Given the description of an element on the screen output the (x, y) to click on. 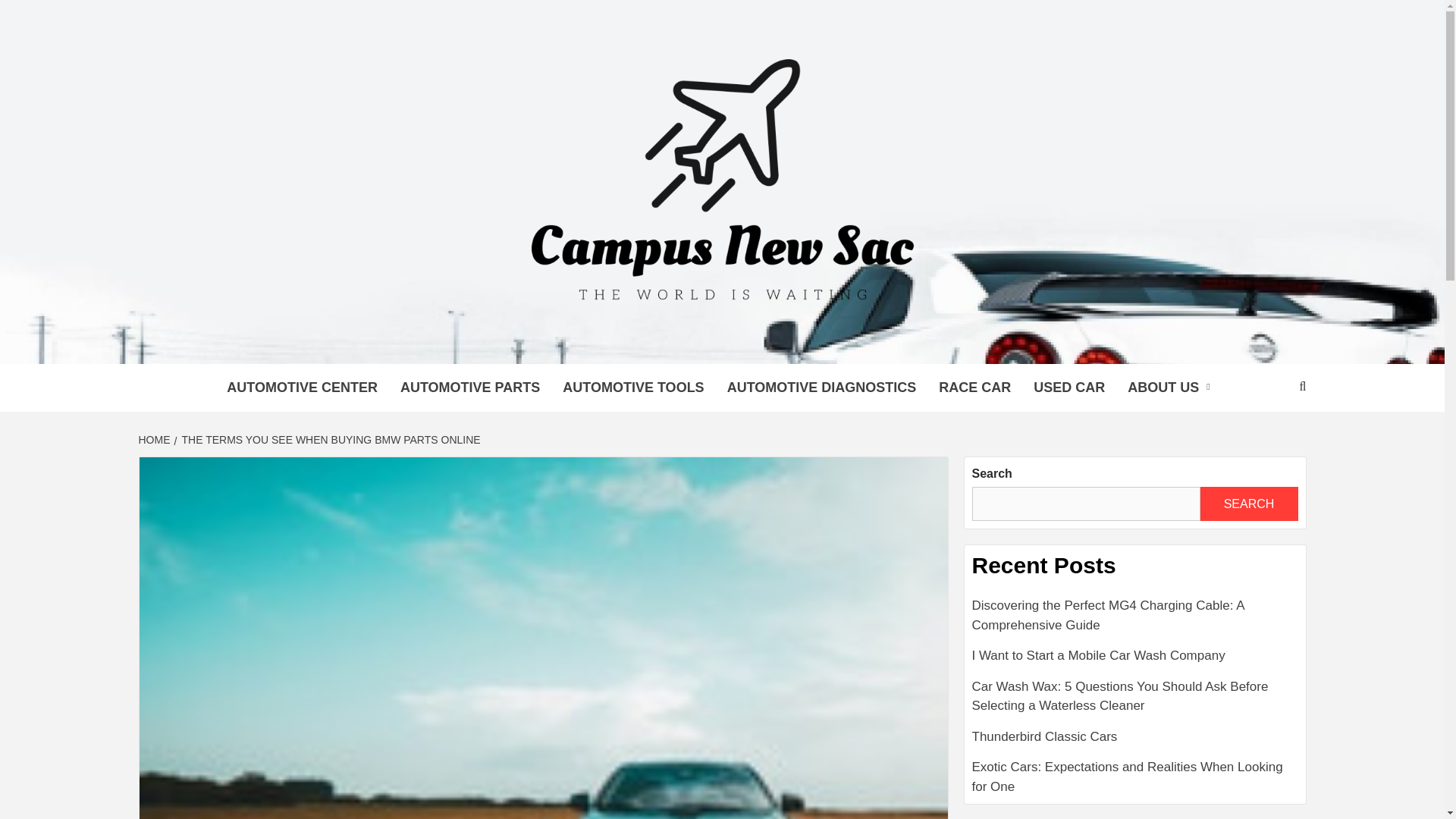
CAMPUS NEWS AC (494, 344)
AUTOMOTIVE PARTS (469, 387)
RACE CAR (974, 387)
THE TERMS YOU SEE WHEN BUYING BMW PARTS ONLINE (329, 439)
Exotic Cars: Expectations and Realities When Looking for One (1135, 776)
AUTOMOTIVE TOOLS (632, 387)
AUTOMOTIVE CENTER (301, 387)
SEARCH (1248, 503)
AUTOMOTIVE DIAGNOSTICS (822, 387)
HOME (155, 439)
Thunderbird Classic Cars (1135, 742)
USED CAR (1069, 387)
I Want to Start a Mobile Car Wash Company (1135, 661)
